Given the description of an element on the screen output the (x, y) to click on. 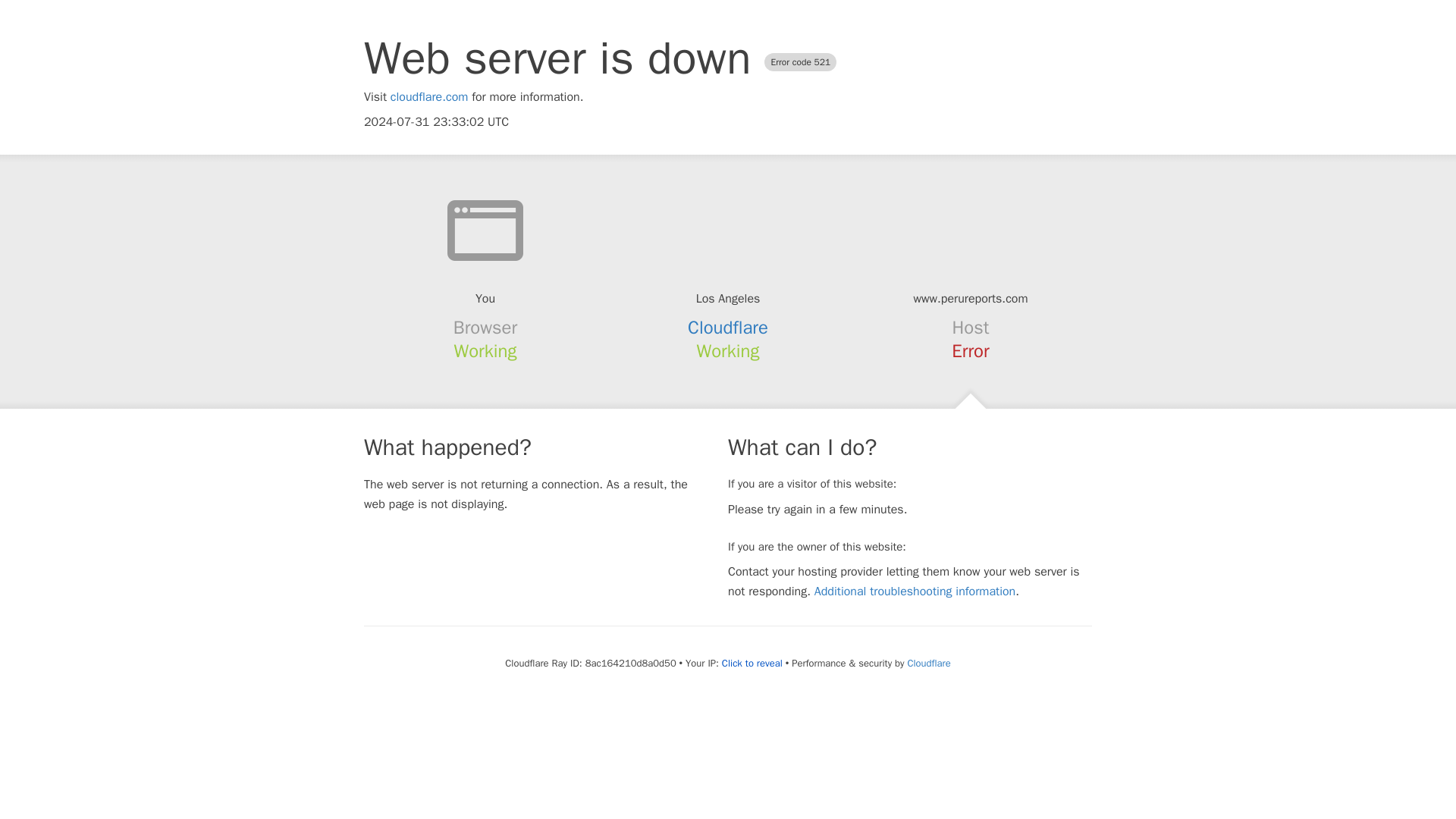
cloudflare.com (429, 96)
Cloudflare (727, 327)
Cloudflare (928, 662)
Additional troubleshooting information (913, 590)
Click to reveal (752, 663)
